Given the description of an element on the screen output the (x, y) to click on. 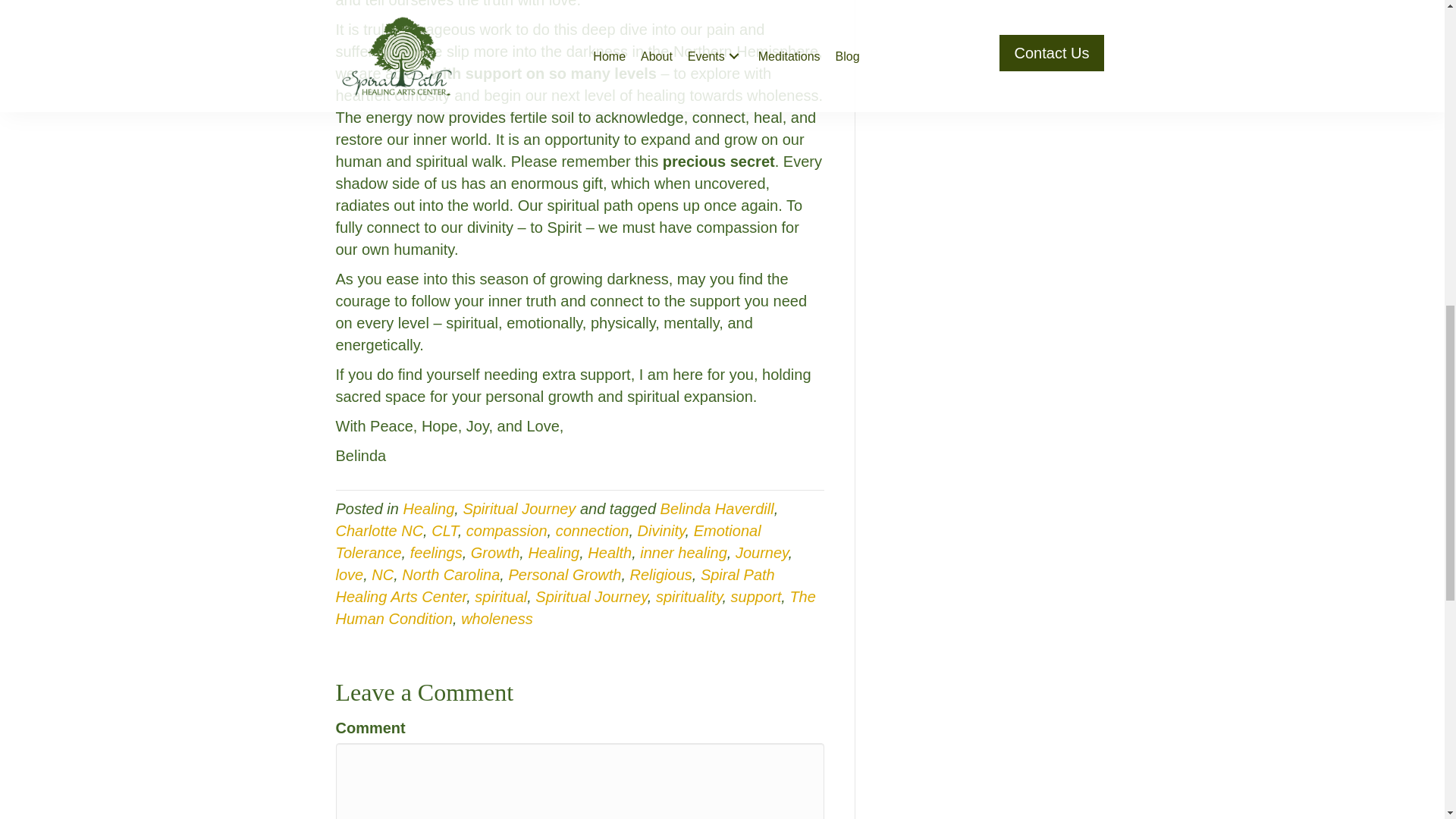
love (348, 574)
spiritual (500, 596)
Healing (553, 552)
inner healing (683, 552)
Health (609, 552)
wholeness (496, 618)
Journey (762, 552)
connection (592, 530)
Healing (428, 508)
compassion (506, 530)
Spiritual Journey (519, 508)
The Human Condition (574, 607)
spirituality (689, 596)
support (755, 596)
Growth (494, 552)
